Given the description of an element on the screen output the (x, y) to click on. 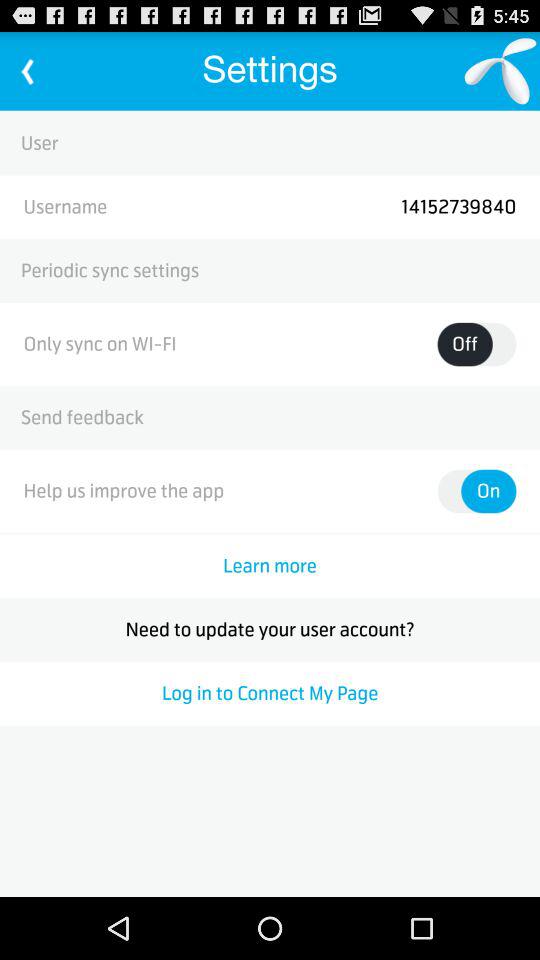
tap icon above need to update item (270, 566)
